Given the description of an element on the screen output the (x, y) to click on. 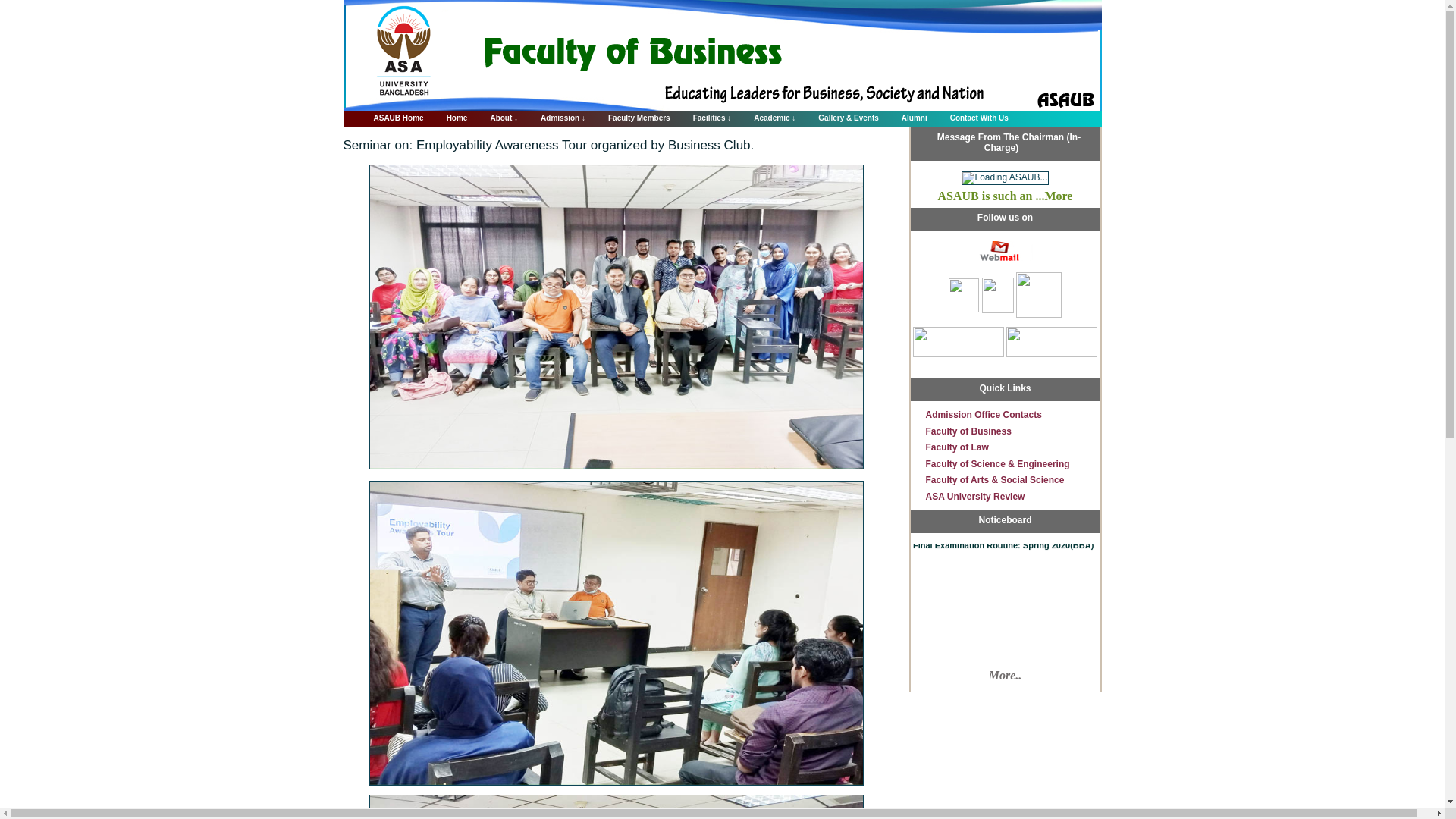
Faculty of Law Element type: text (956, 447)
Gallery & Events Element type: text (840, 116)
Faculty Members Element type: text (631, 116)
Home Element type: text (449, 116)
More.. Element type: text (1005, 675)
Contact With Us Element type: text (971, 116)
Alumni Element type: text (906, 116)
Final Examination Routine: Spring 2020(BBA)   Element type: text (1003, 543)
Final Examination Routine: Spring 2020(MBA)   Element type: text (1003, 524)
Faculty of Arts & Social Science Element type: text (994, 479)
ASAUB is such an ...More Element type: text (1005, 195)
ASAUB Home Element type: text (390, 116)
ASA University Review Element type: text (974, 496)
Faculty of Science & Engineering Element type: text (997, 463)
Admission Office Contacts Element type: text (983, 414)
Faculty of Business Element type: text (967, 431)
